Given the description of an element on the screen output the (x, y) to click on. 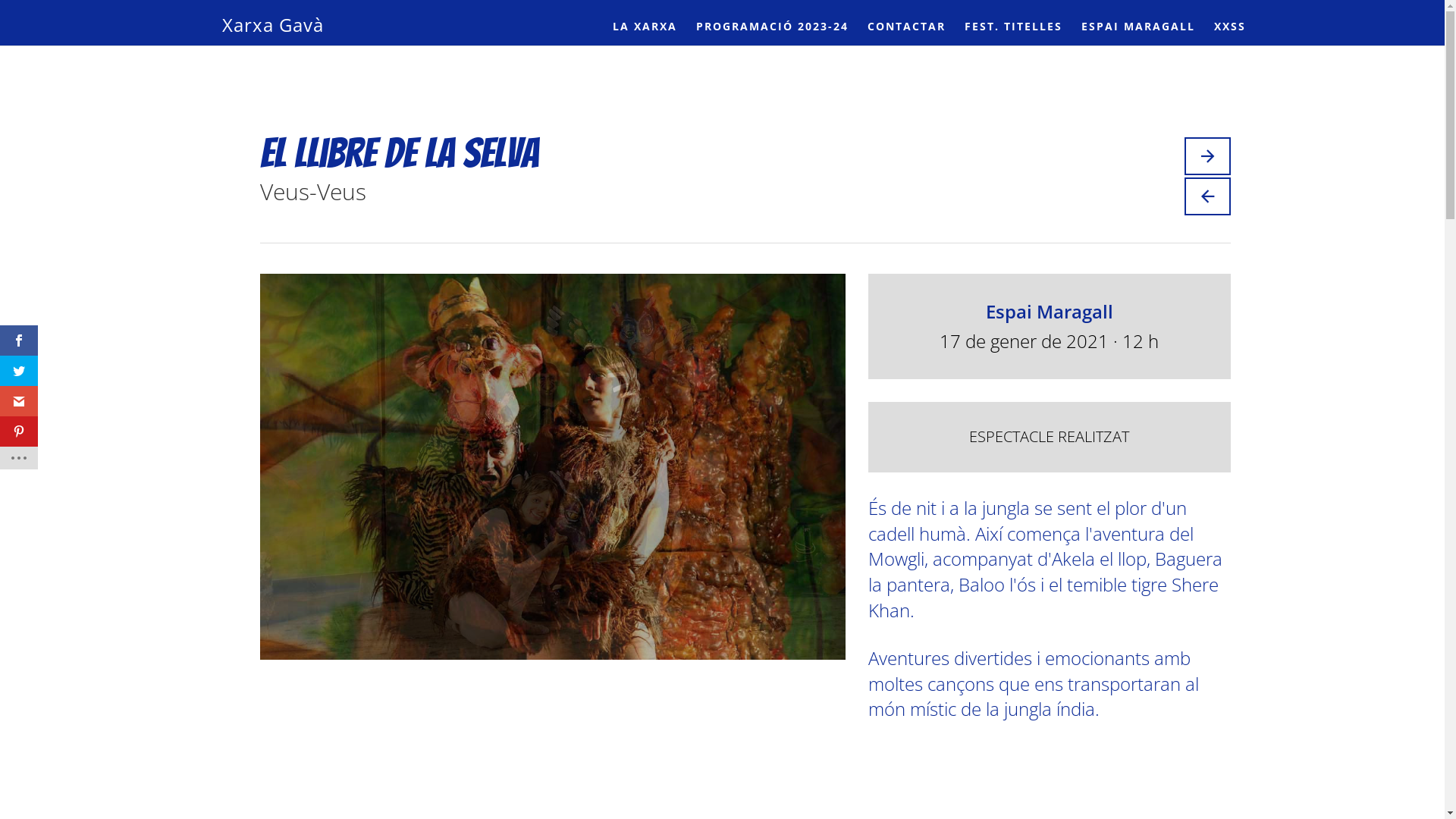
Skip to primary navigation Element type: text (0, 0)
SOPA DE PEDRES Element type: hover (1207, 196)
EL REI DE CASA Element type: hover (1207, 156)
Espai Maragall Element type: text (1049, 310)
